Given the description of an element on the screen output the (x, y) to click on. 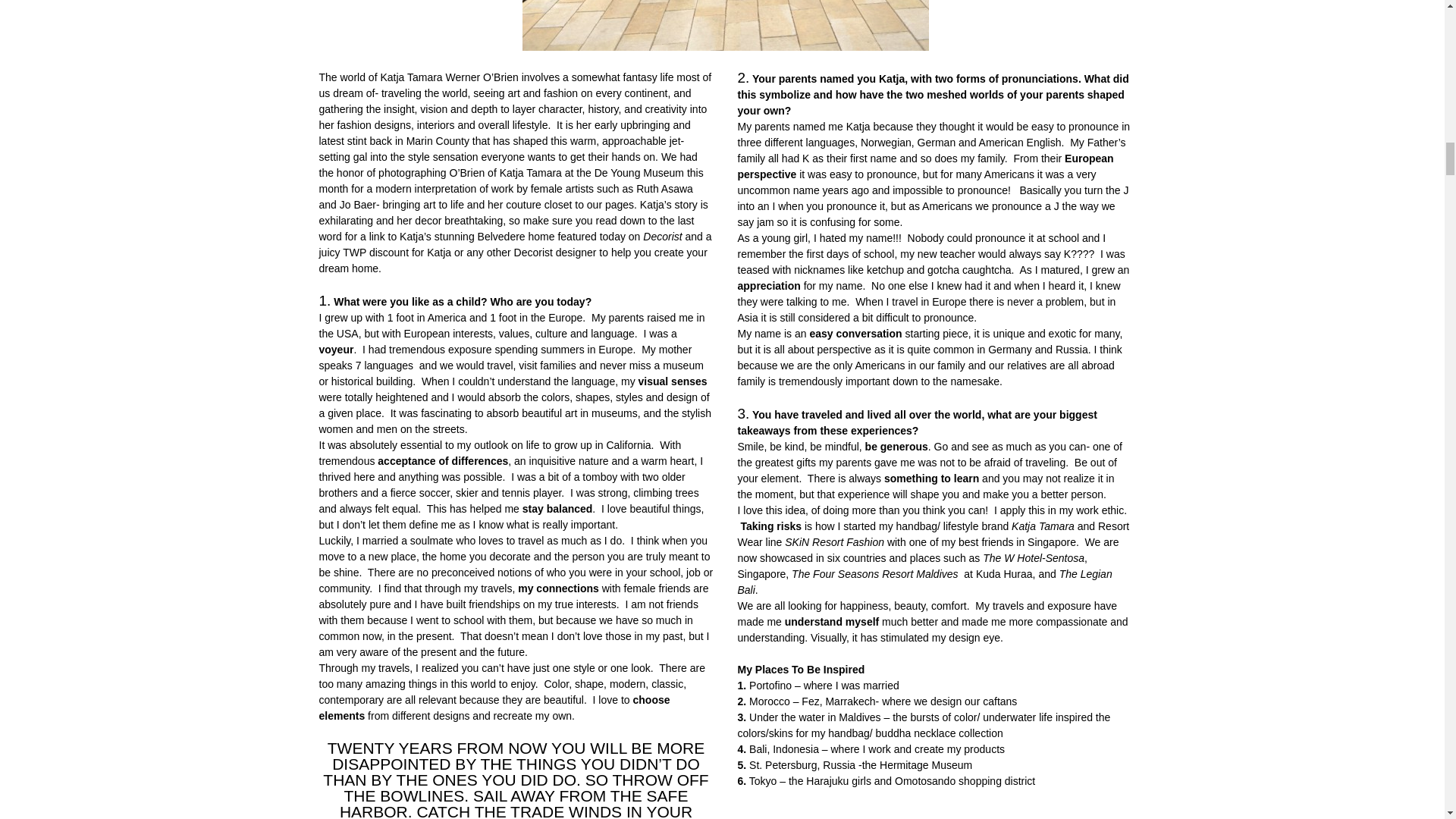
The Legian Bali (924, 582)
The Four Seasons Resort Maldives (875, 573)
Katja Tamara (1042, 526)
SKiN Resort Fashion (833, 541)
The W Hotel-Sentosa (1033, 558)
Decorist (662, 236)
